Given the description of an element on the screen output the (x, y) to click on. 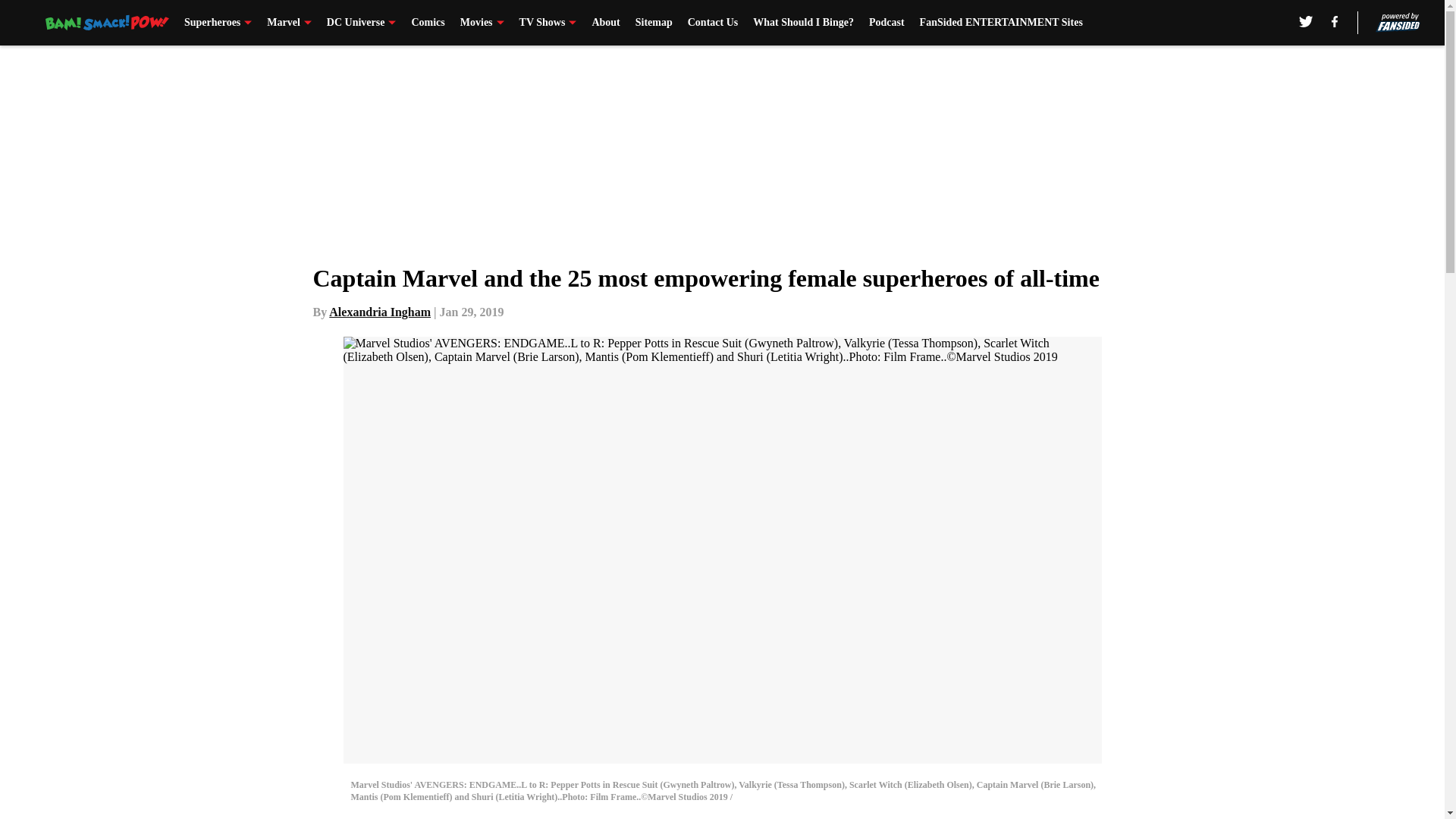
What Should I Binge? (802, 22)
Movies (481, 22)
Podcast (886, 22)
Comics (427, 22)
FanSided ENTERTAINMENT Sites (1001, 22)
Contact Us (712, 22)
About (605, 22)
Sitemap (653, 22)
Alexandria Ingham (379, 311)
